Given the description of an element on the screen output the (x, y) to click on. 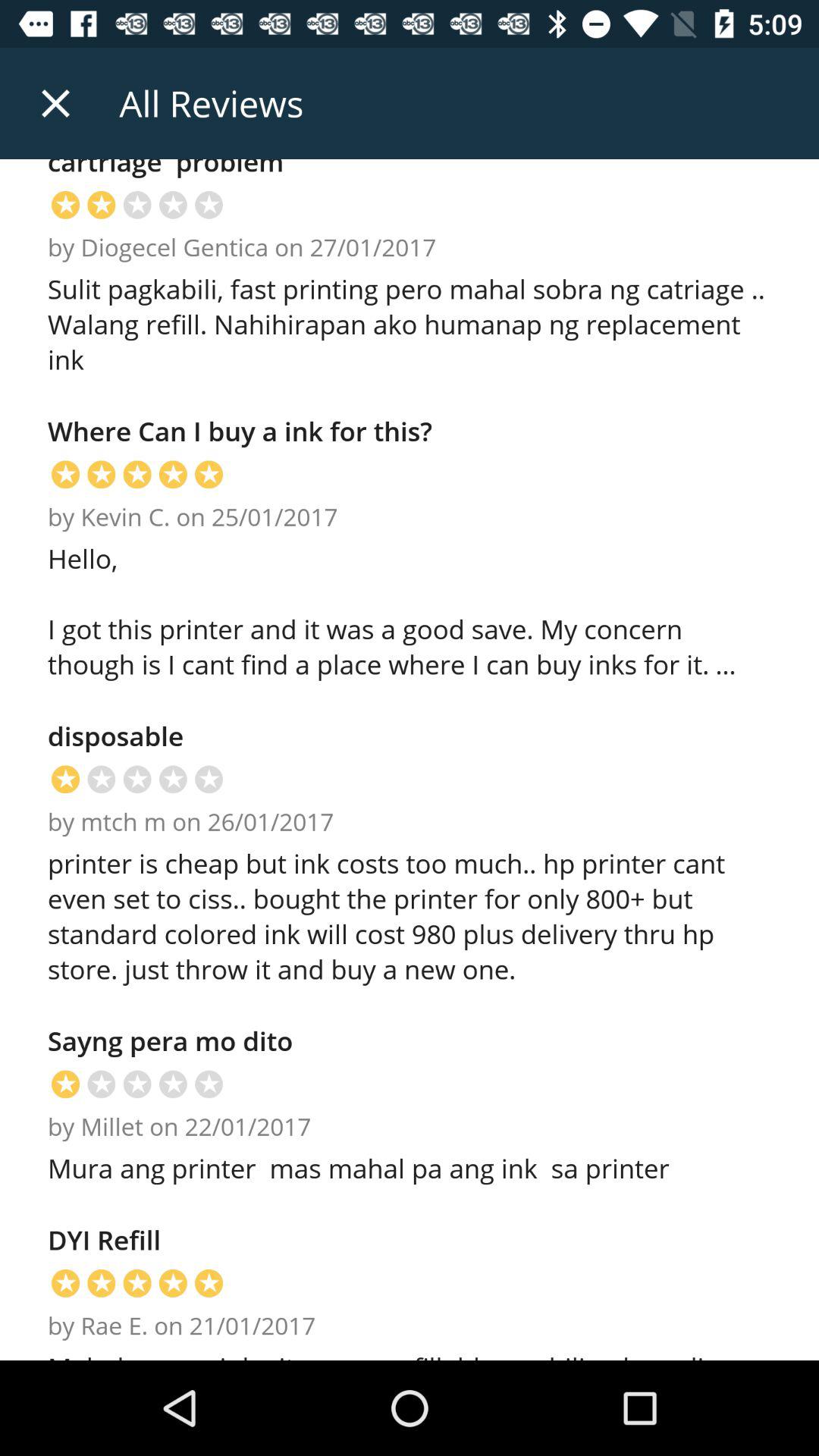
select the icon to the left of the all reviews item (55, 103)
